Given the description of an element on the screen output the (x, y) to click on. 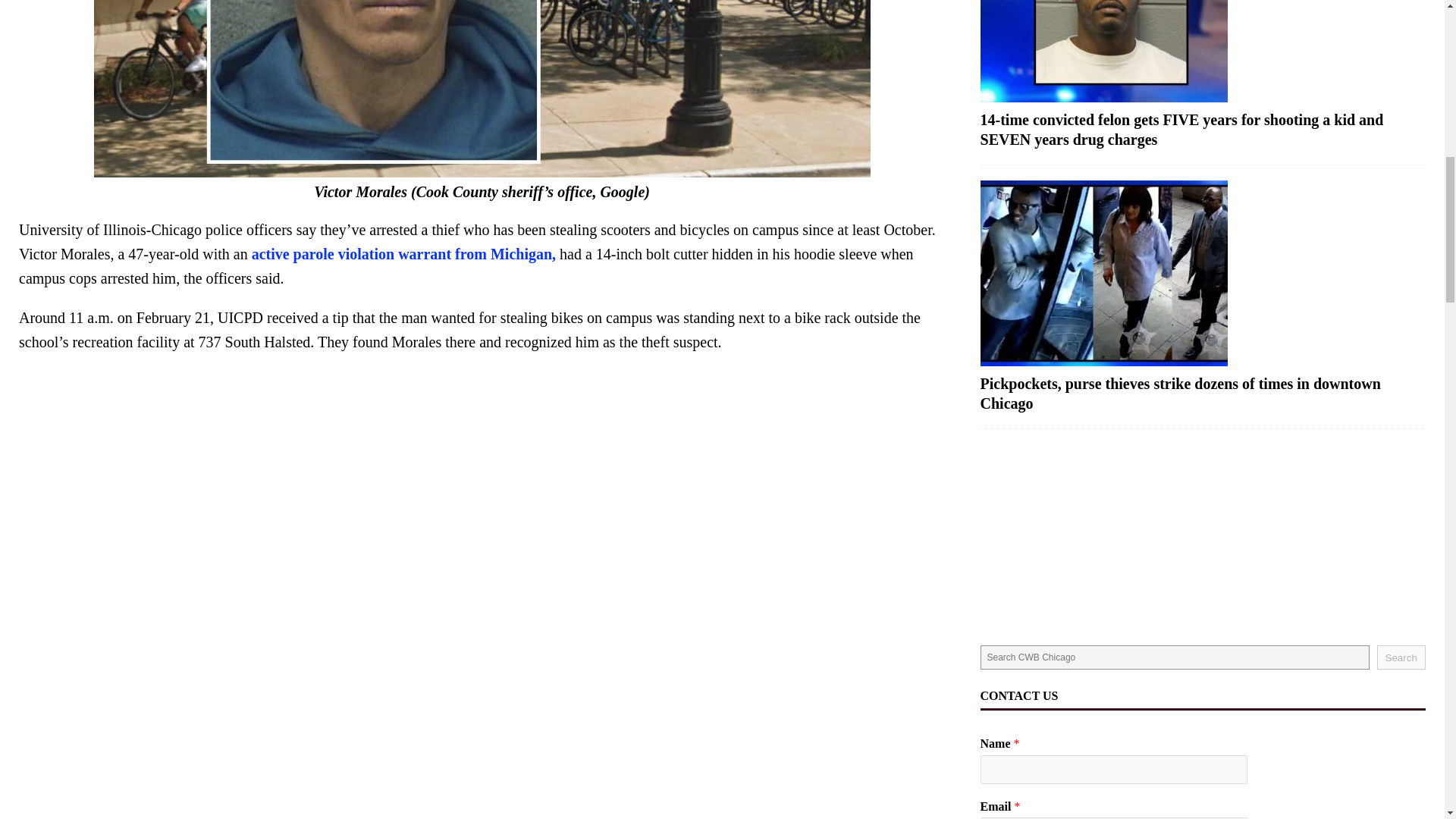
active parole violation warrant from Michigan, (403, 253)
Search (1401, 657)
